Given the description of an element on the screen output the (x, y) to click on. 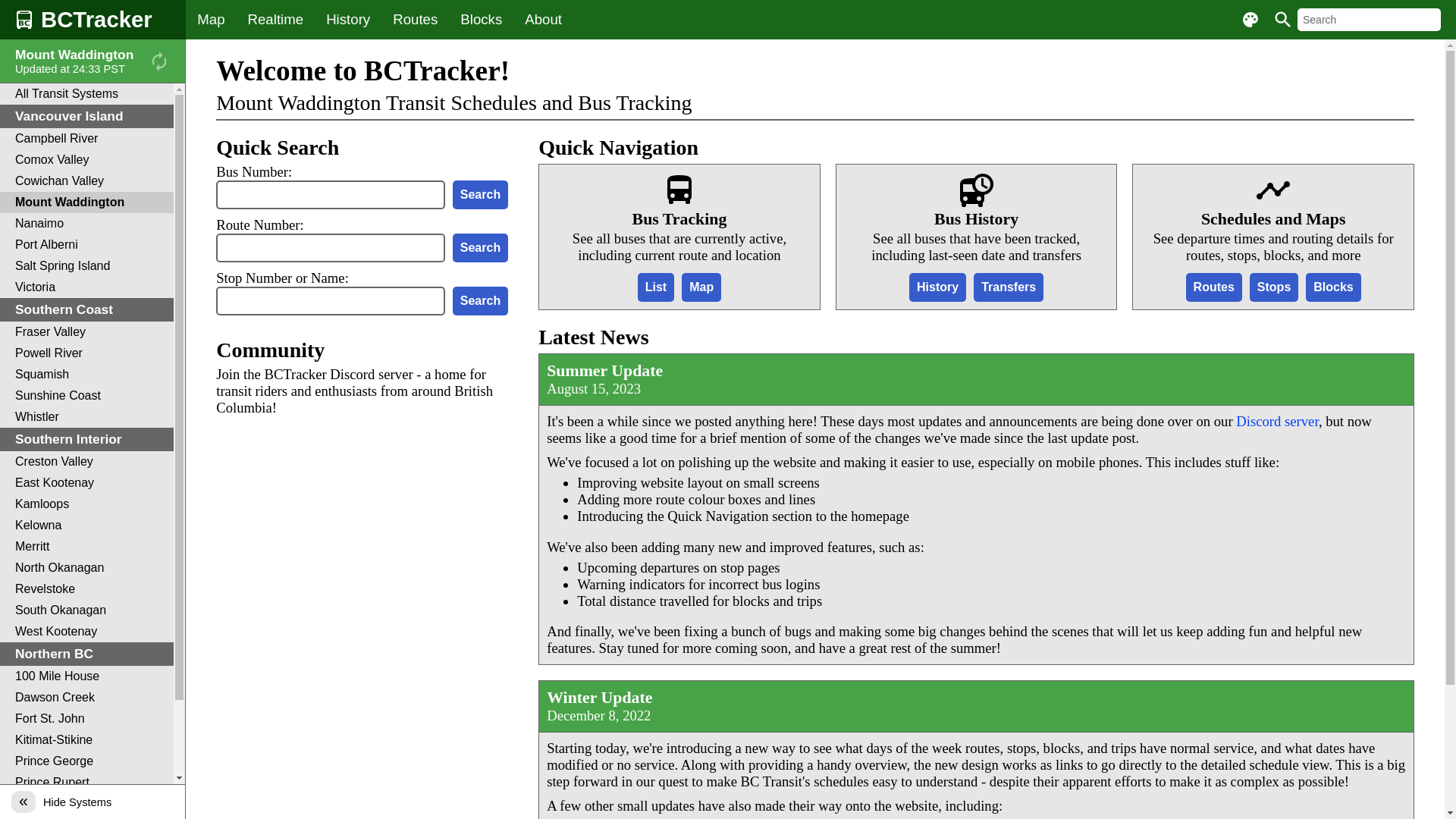
History Element type: text (347, 19)
Kelowna Element type: text (86, 525)
All Transit Systems Element type: text (86, 93)
100 Mile House Element type: text (86, 676)
West Kootenay Element type: text (86, 631)
Prince George Element type: text (86, 760)
Dawson Creek Element type: text (86, 697)
Routes Element type: text (414, 19)
List Element type: text (655, 287)
Blocks Element type: text (1332, 287)
Squamish Element type: text (86, 374)
Whistler Element type: text (86, 416)
Quesnel Element type: text (86, 803)
South Okanagan Element type: text (86, 610)
Campbell River Element type: text (86, 138)
Fraser Valley Element type: text (86, 331)
North Okanagan Element type: text (86, 567)
BCTracker Element type: text (92, 19)
Map Element type: text (210, 19)
Revelstoke Element type: text (86, 588)
Merritt Element type: text (86, 546)
Cowichan Valley Element type: text (86, 180)
Realtime Element type: text (275, 19)
Stops Element type: text (1273, 287)
Comox Valley Element type: text (86, 159)
Routes Element type: text (1214, 287)
Discord server Element type: text (1277, 421)
Search Element type: text (480, 194)
Kamloops Element type: text (86, 503)
Search Element type: text (480, 300)
Kitimat-Stikine Element type: text (86, 739)
Search Element type: text (480, 247)
Victoria Element type: text (86, 287)
Creston Valley Element type: text (86, 461)
Transfers Element type: text (1008, 287)
Prince Rupert Element type: text (86, 782)
About Element type: text (543, 19)
Fort St. John Element type: text (86, 718)
Nanaimo Element type: text (86, 223)
Blocks Element type: text (480, 19)
Port Alberni Element type: text (86, 244)
History Element type: text (937, 287)
Sunshine Coast Element type: text (86, 395)
Map Element type: text (701, 287)
Salt Spring Island Element type: text (86, 265)
Powell River Element type: text (86, 353)
East Kootenay Element type: text (86, 482)
